Given the description of an element on the screen output the (x, y) to click on. 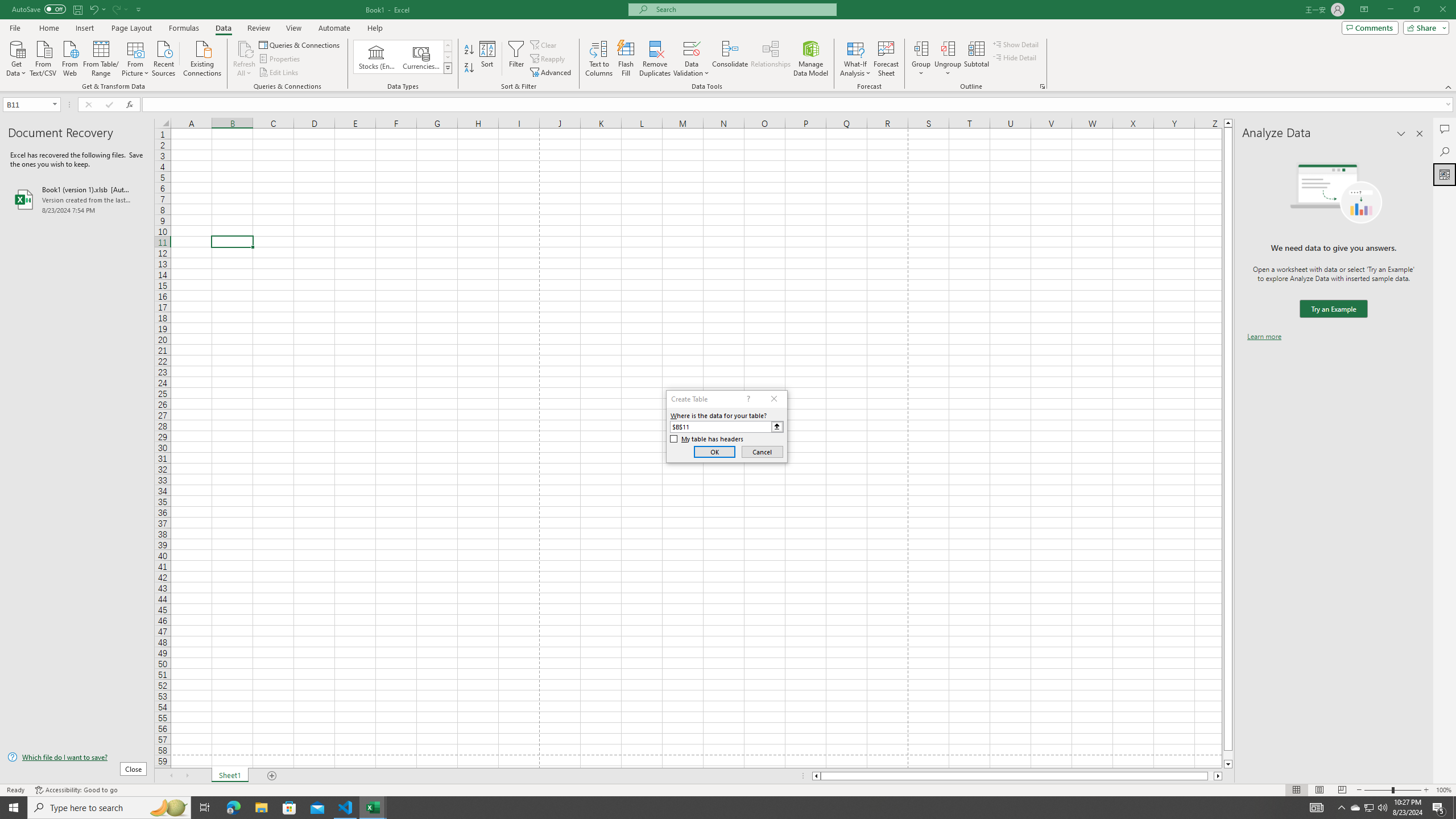
We need data to give you answers. Try an Example (1333, 308)
What-If Analysis (855, 58)
Stocks (English) (375, 56)
From Table/Range (100, 57)
Queries & Connections (300, 44)
